Given the description of an element on the screen output the (x, y) to click on. 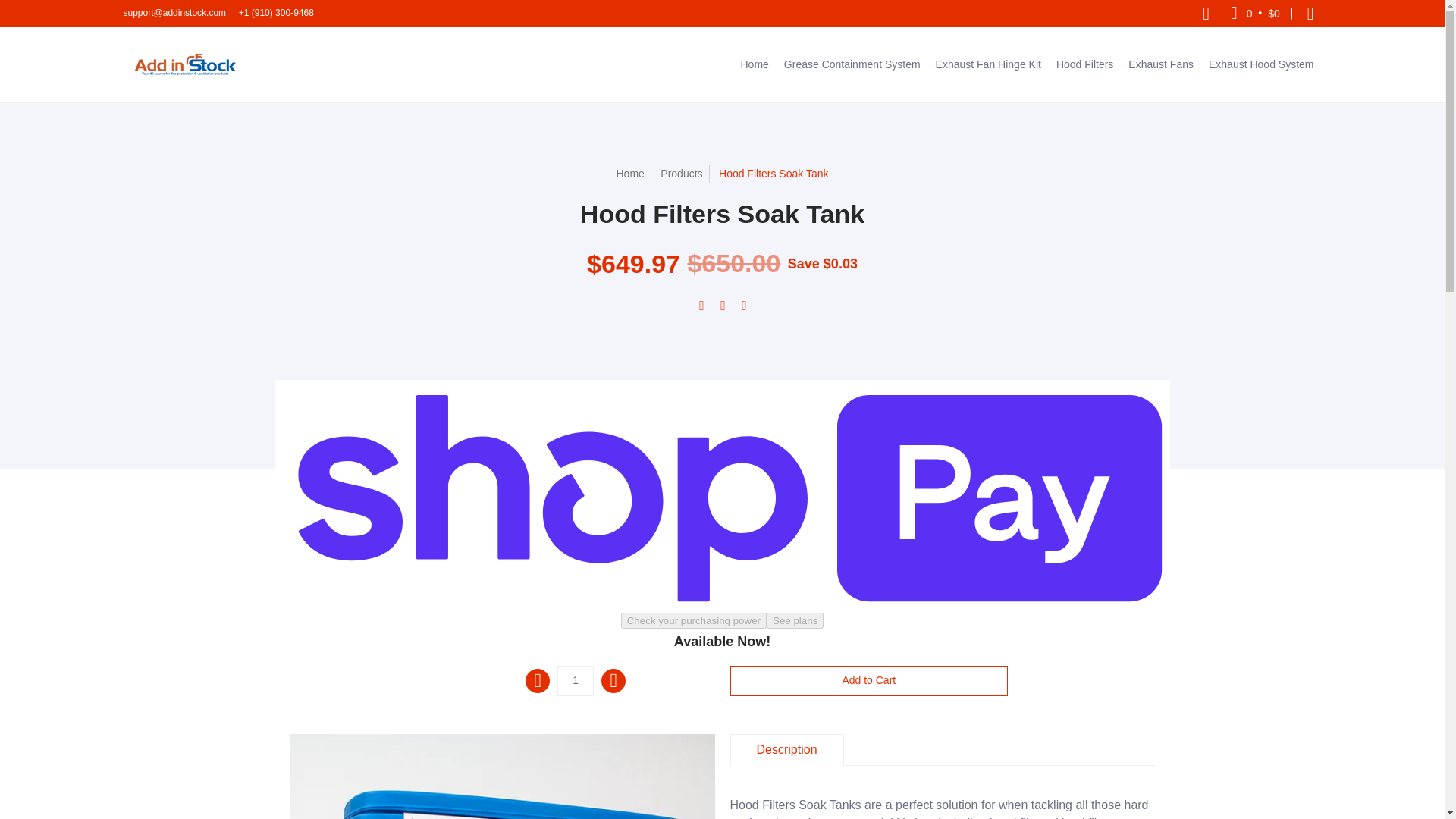
Add to Cart (868, 680)
Exhaust Fans (1161, 64)
Search (1205, 13)
Hood Filters (1084, 64)
AddinStock.com (183, 64)
Add to Cart (868, 680)
Exhaust Hood System (1261, 64)
Exhaust Fan Hinge Kit (988, 64)
Exhaust Fan Hinge Kit (988, 64)
Log in (1310, 13)
